Given the description of an element on the screen output the (x, y) to click on. 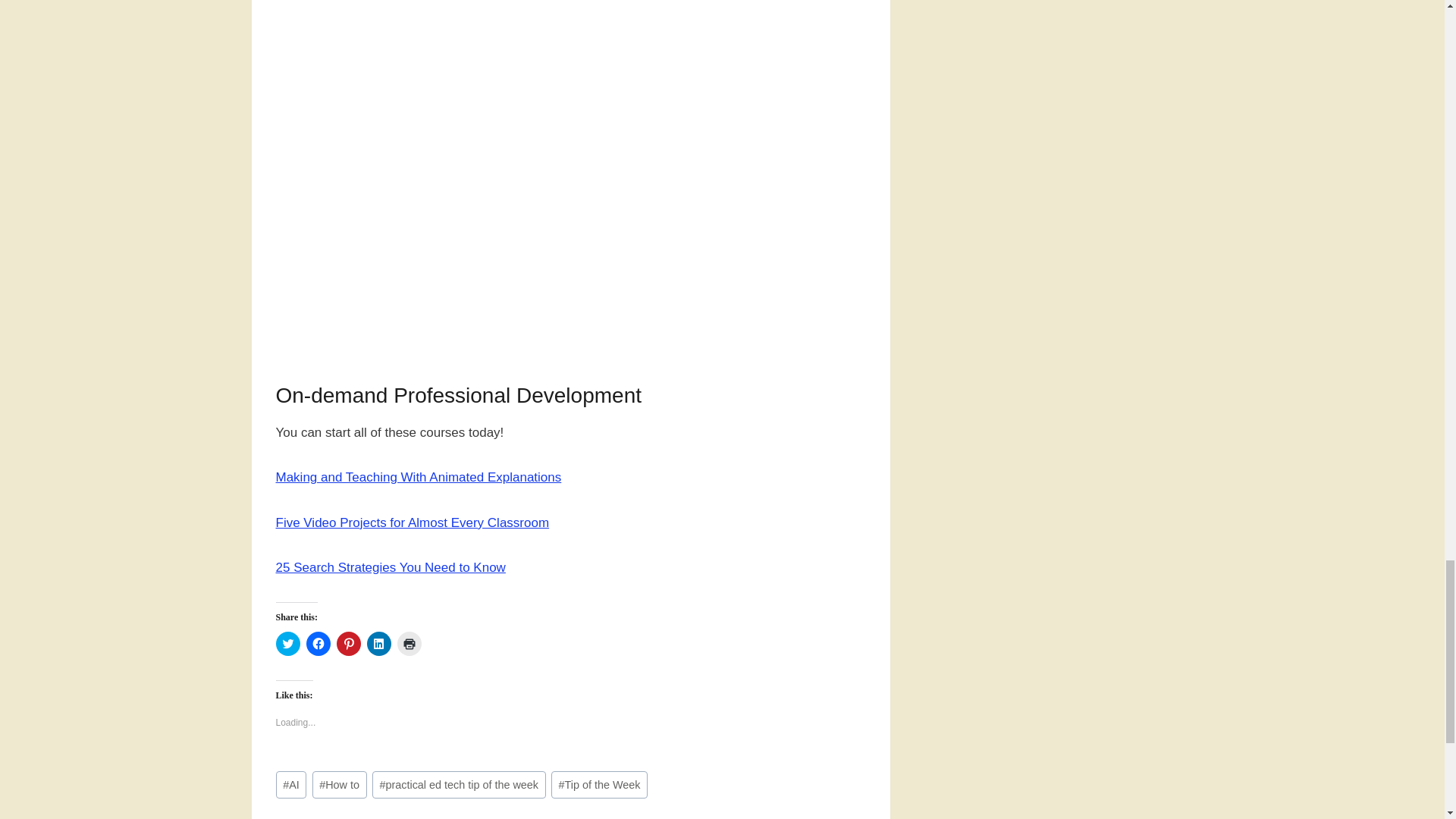
Tip of the Week (599, 785)
Making and Teaching With Animated Explanations (419, 477)
How to (339, 785)
Five Video Projects for Almost Every Classroom (413, 522)
Click to share on LinkedIn (378, 643)
Click to share on Twitter (287, 643)
25 Search Strategies You Need to Know (390, 567)
practical ed tech tip of the week (459, 785)
AI (291, 785)
Click to print (409, 643)
